Given the description of an element on the screen output the (x, y) to click on. 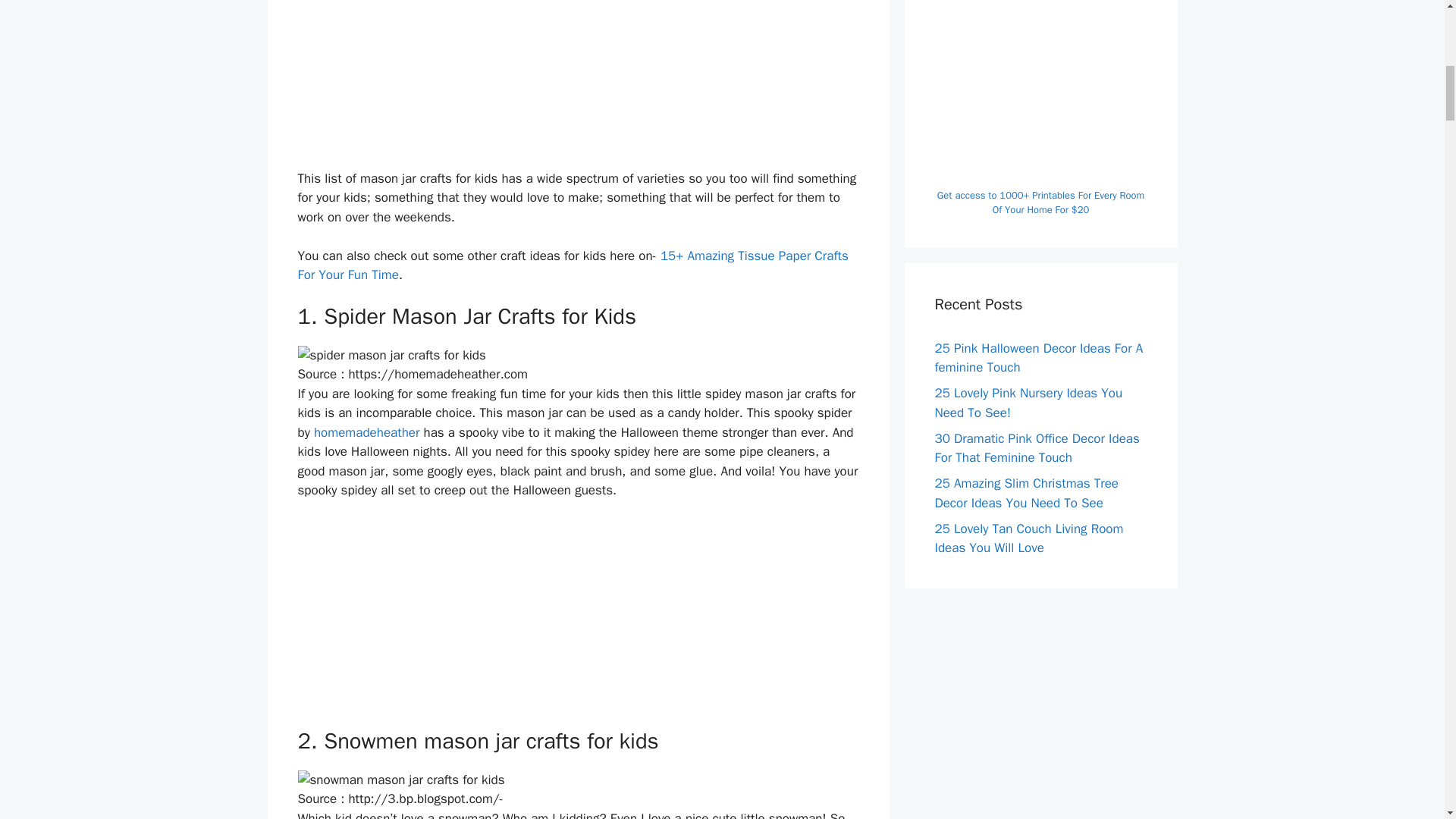
Scroll back to top (1406, 720)
